Given the description of an element on the screen output the (x, y) to click on. 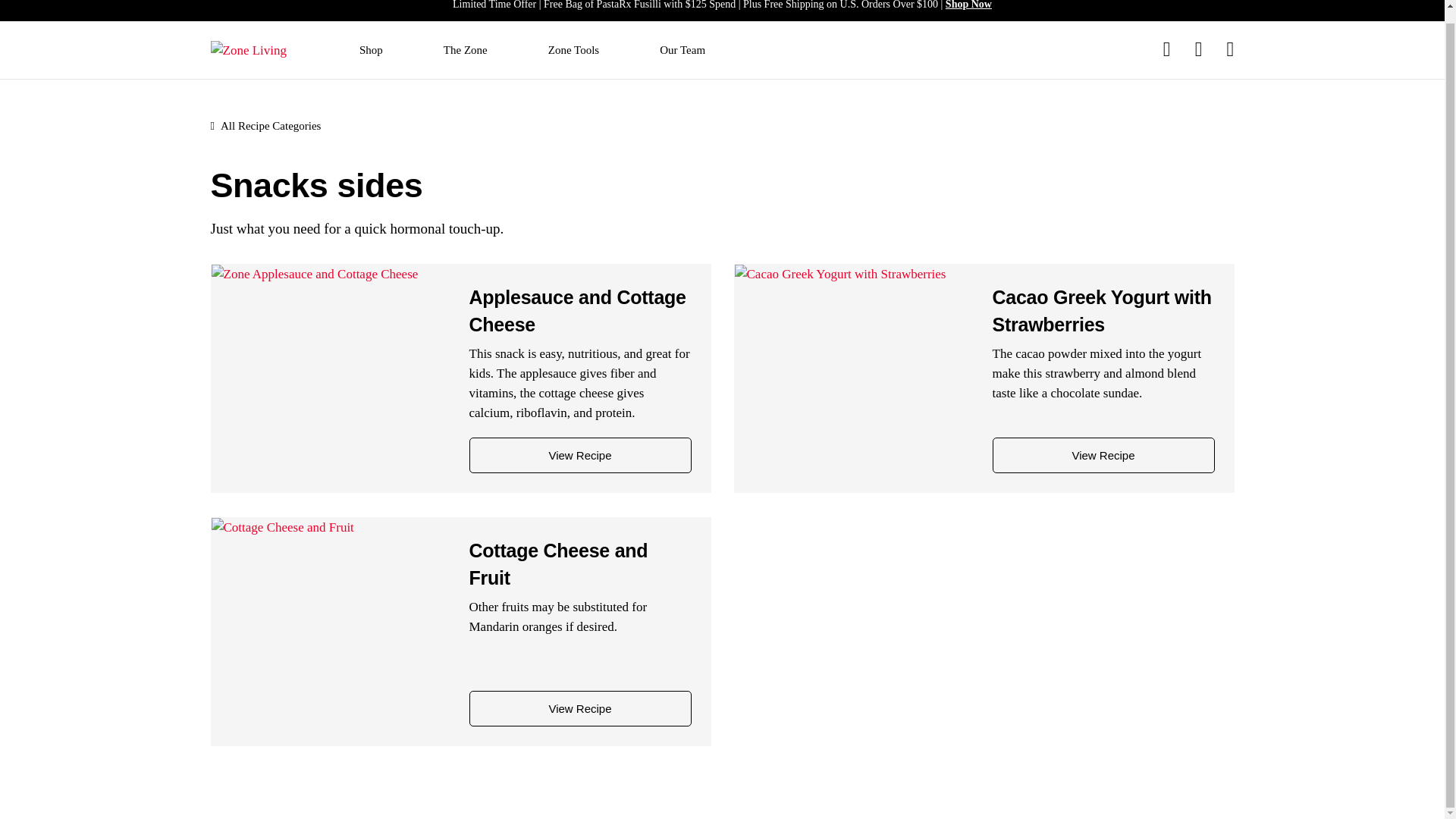
Shop (370, 49)
Shop (370, 49)
Zone Living (248, 49)
Shop Now (967, 4)
The Zone (465, 49)
Zone Living (248, 50)
The Zone (465, 49)
Zone Tools (573, 49)
